Given the description of an element on the screen output the (x, y) to click on. 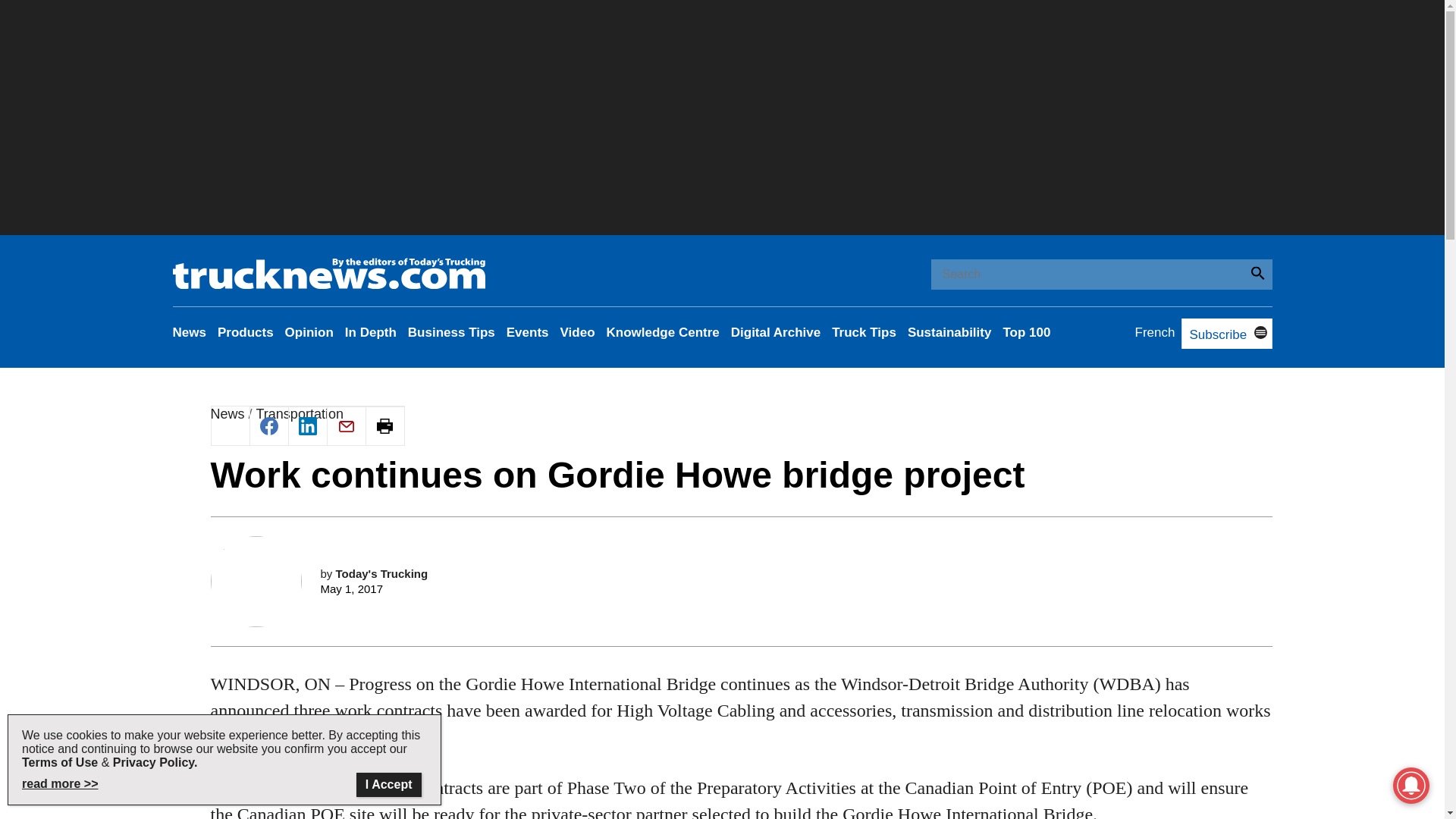
French (1154, 332)
In Depth (370, 332)
3rd party ad content (741, 530)
News (189, 332)
Events (527, 332)
Products (244, 332)
Business Tips (451, 332)
Sustainability (949, 332)
Digital Archive (775, 332)
3rd party ad content (741, 738)
Subscribe (1213, 334)
Video (577, 332)
Top 100 (1026, 332)
Opinion (309, 332)
